Given the description of an element on the screen output the (x, y) to click on. 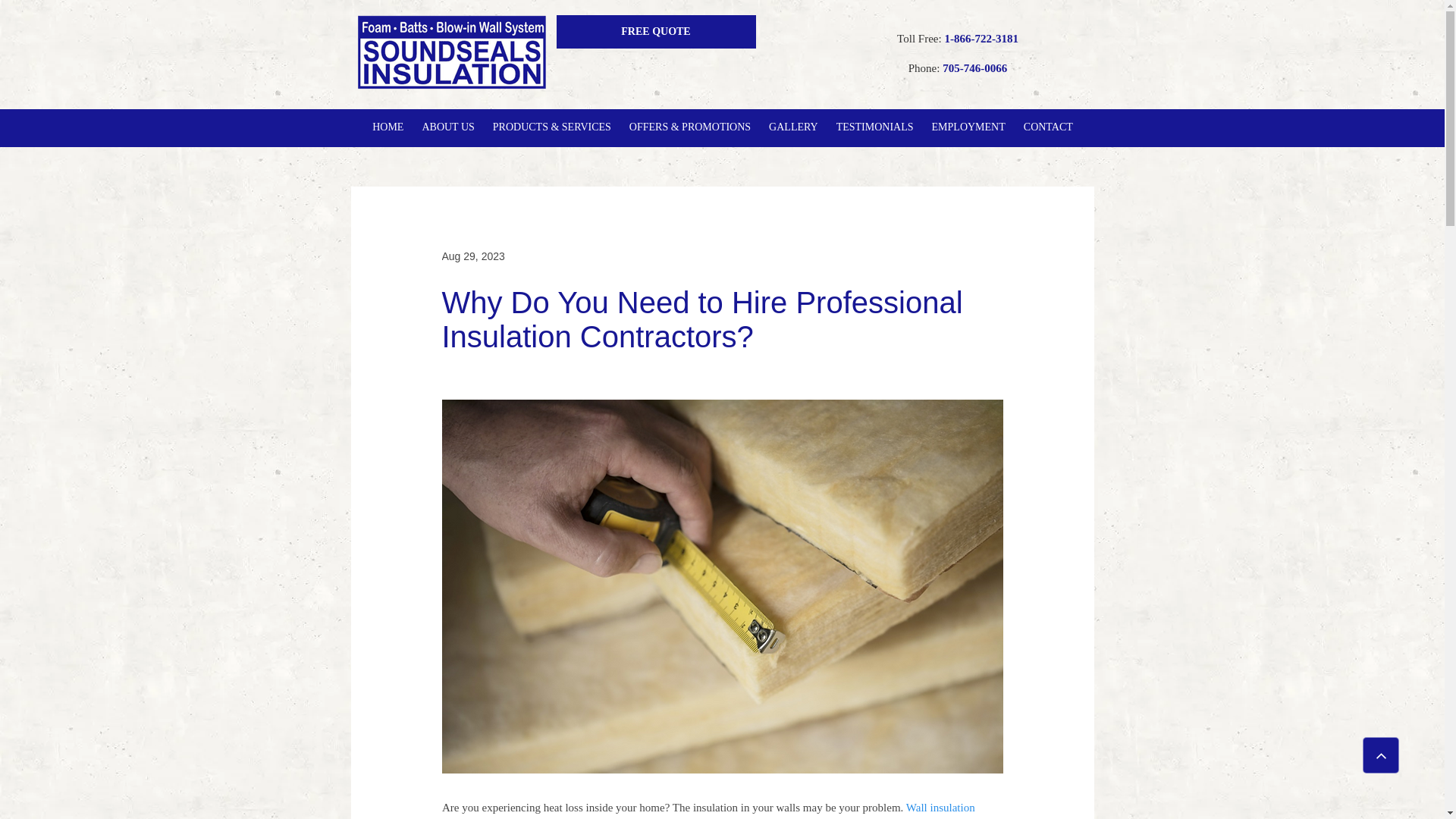
EMPLOYMENT (968, 127)
CONTACT (1047, 127)
HOME (387, 127)
FREE QUOTE (655, 31)
GALLERY (793, 127)
1-866-722-3181 (980, 40)
ABOUT US (447, 127)
TESTIMONIALS (875, 127)
705-746-0066 (974, 69)
Aug 29, 2023 (472, 256)
